Given the description of an element on the screen output the (x, y) to click on. 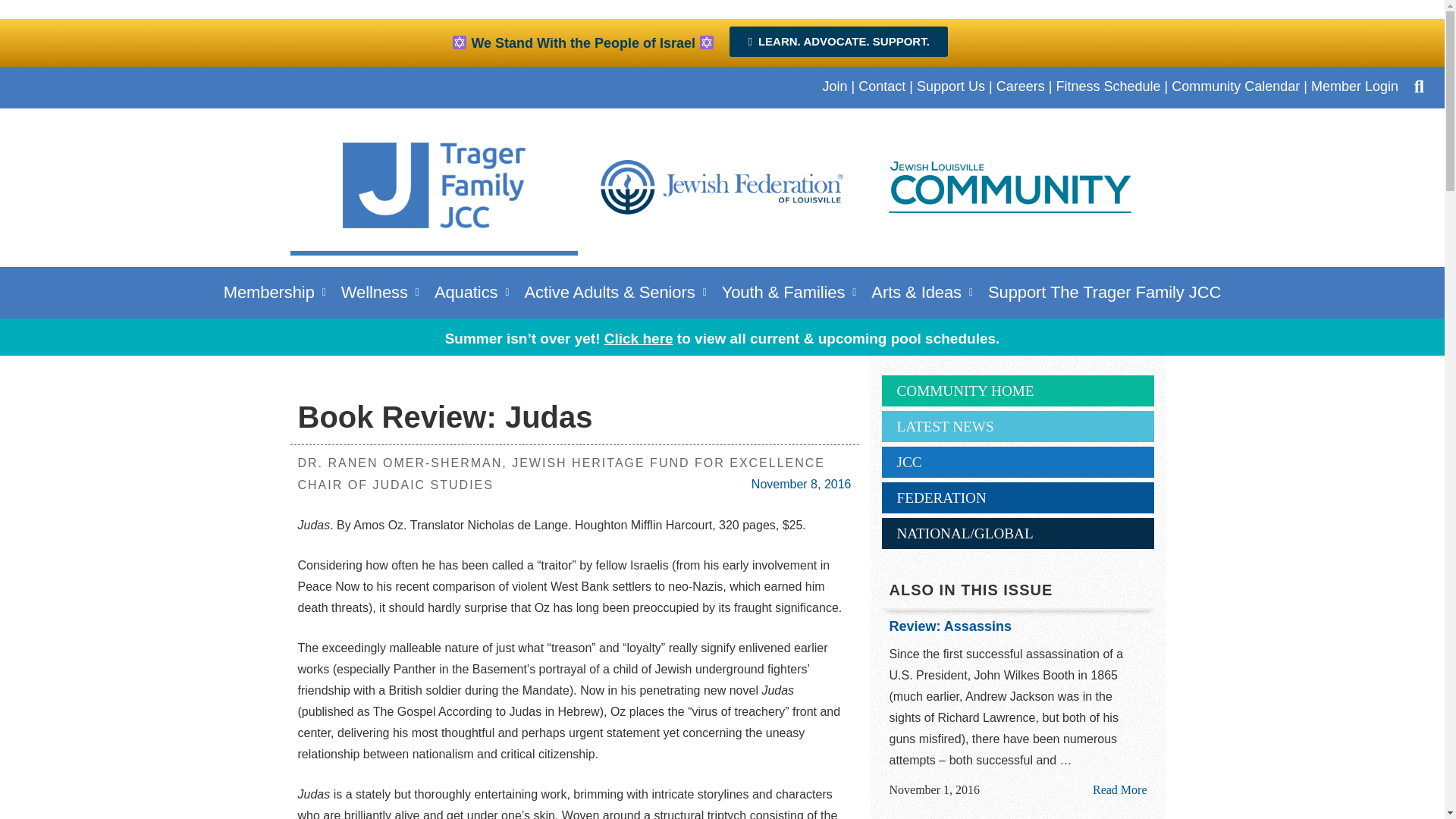
Member Login (1354, 86)
Review: Assassins (1017, 627)
Join (834, 86)
Wellness (379, 292)
Aquatics (471, 292)
Review: Assassins (1120, 789)
LEARN. ADVOCATE. SUPPORT. (838, 41)
Community Calendar (1236, 86)
Fitness Schedule (1107, 86)
Contact (882, 86)
